Given the description of an element on the screen output the (x, y) to click on. 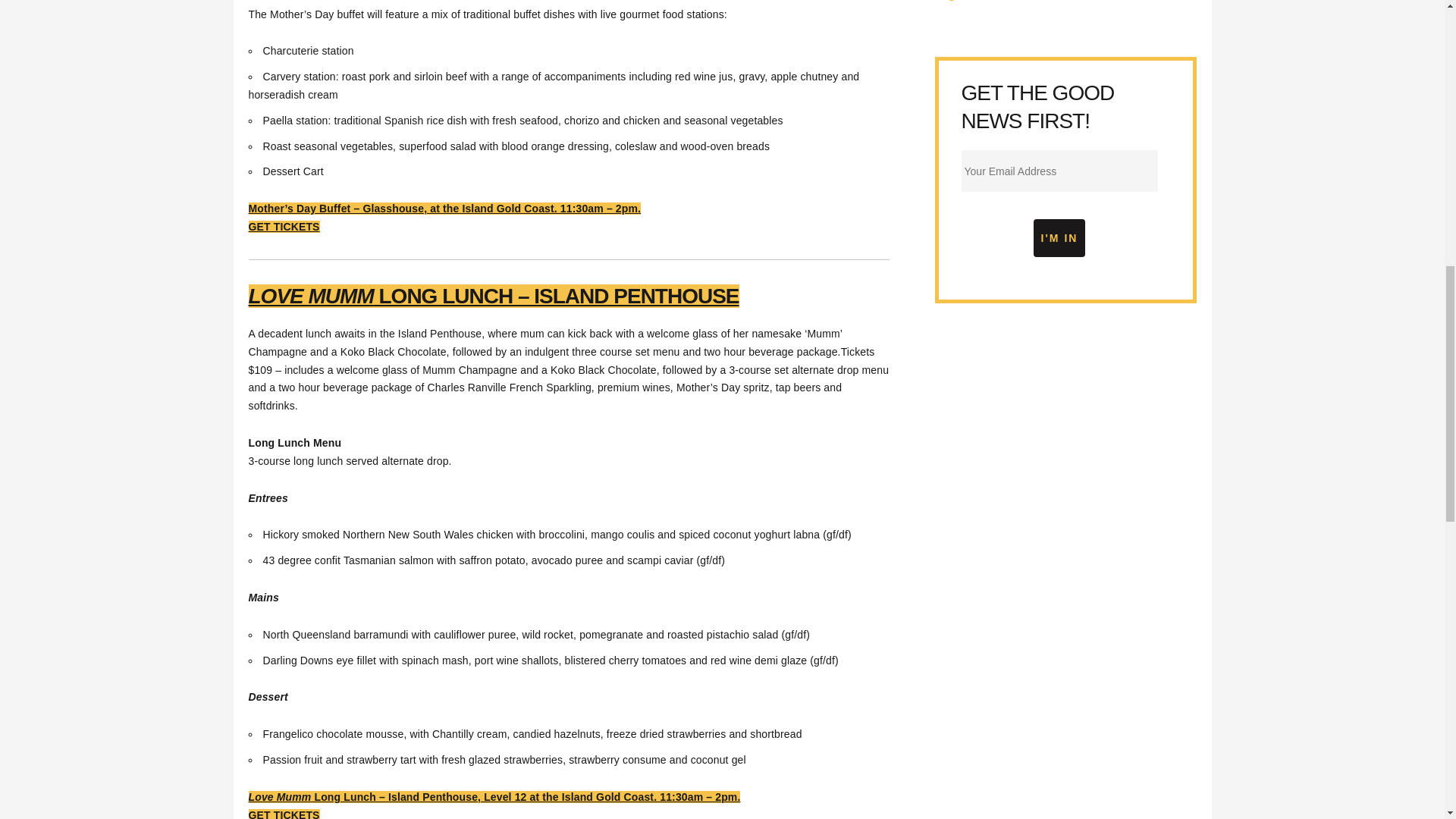
GET TICKETS (284, 226)
GET TICKETS (284, 814)
I'm In (1059, 238)
I'm In (1059, 238)
